Given the description of an element on the screen output the (x, y) to click on. 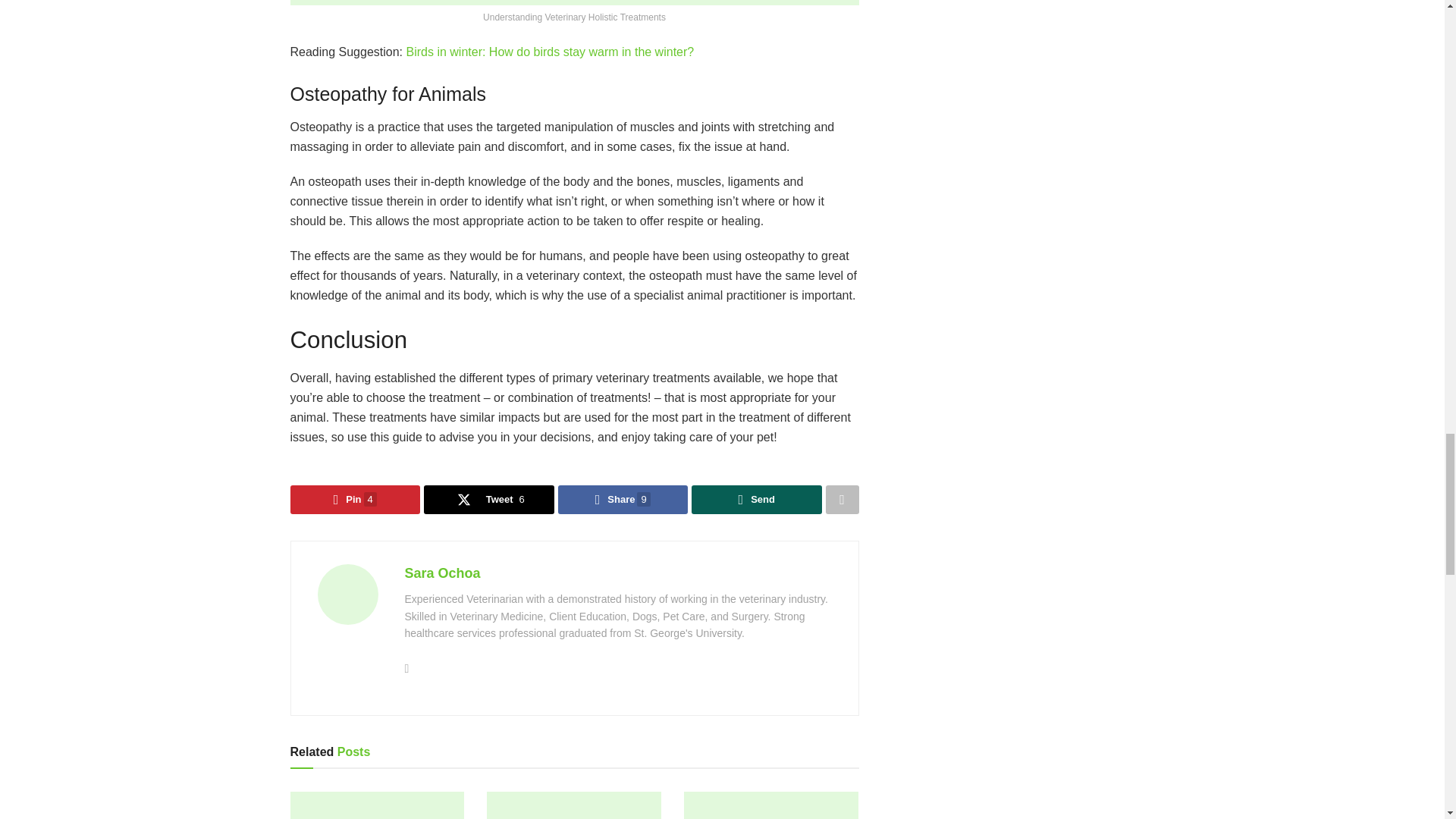
Understanding and Managing Dog Anxiety and Stress (376, 805)
How to Prevent Hip Dysplasia in Dogs (771, 805)
